Given the description of an element on the screen output the (x, y) to click on. 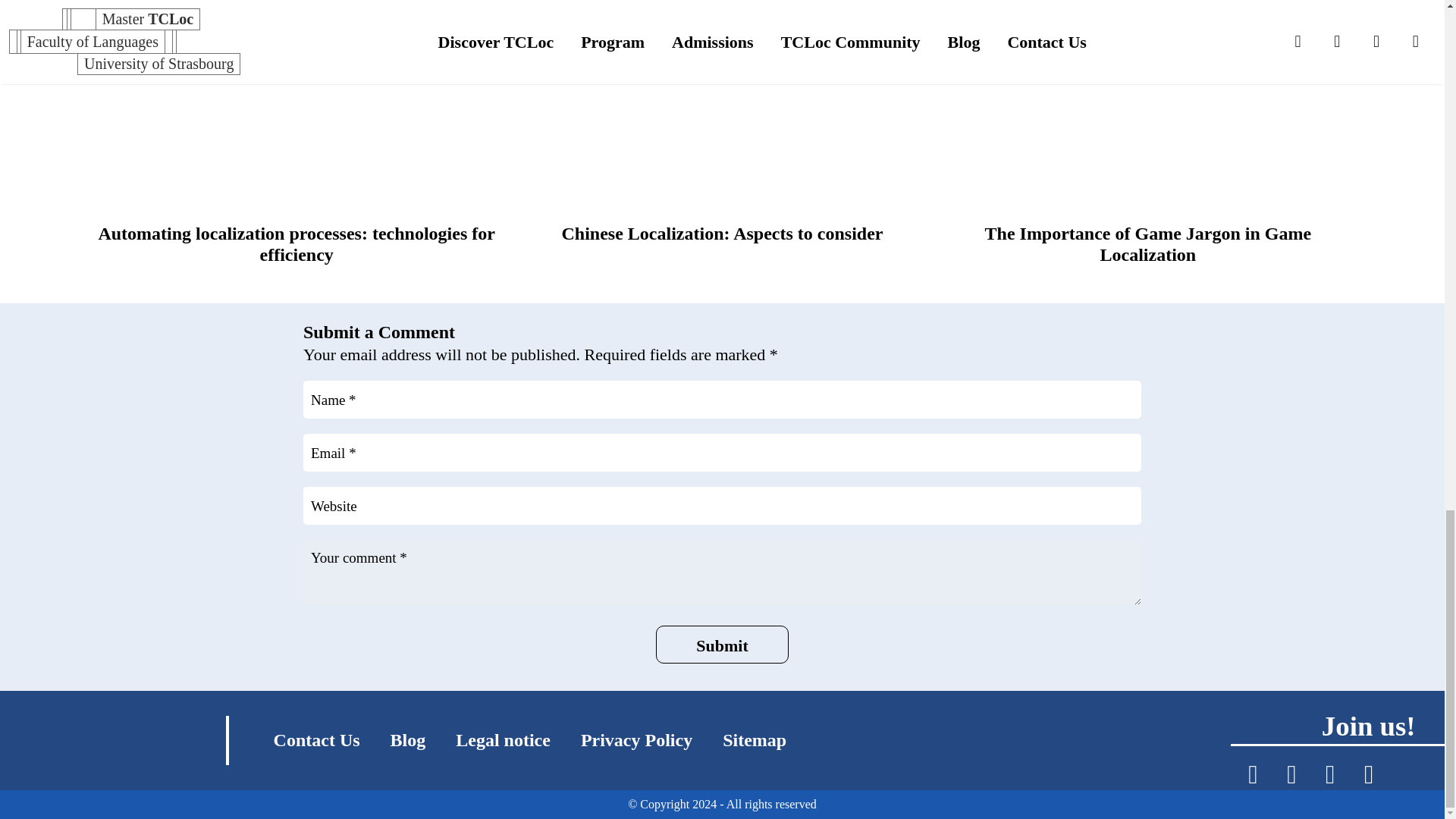
The Importance of Game Jargon in Game Localization (1147, 145)
The Importance of Game Jargon in Game Localization (1148, 243)
Chinese Localization: Aspects to consider (721, 145)
Submit (722, 644)
Chinese Localization: Aspects to consider (721, 233)
